Given the description of an element on the screen output the (x, y) to click on. 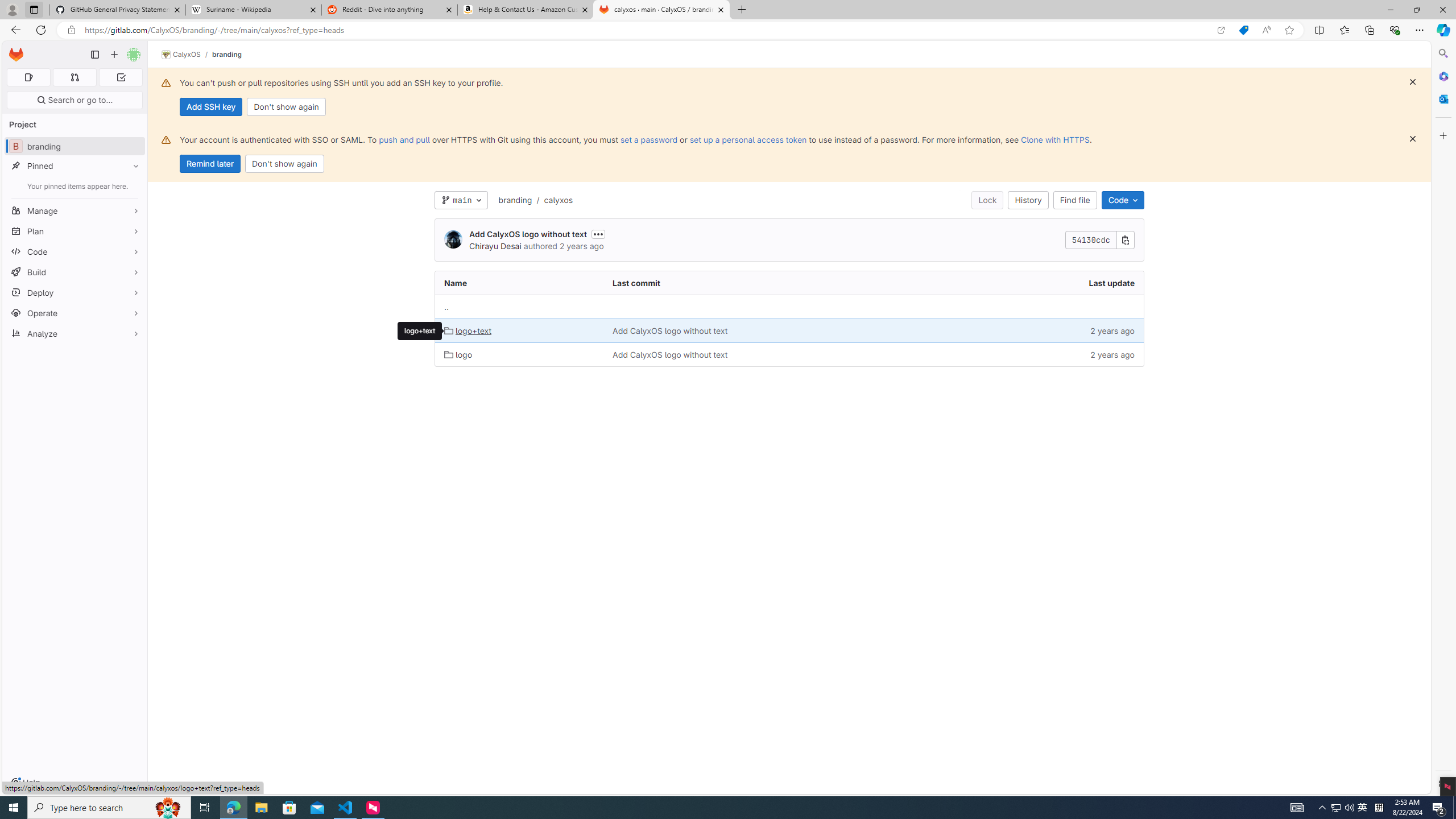
Help & Contact Us - Amazon Customer Service (525, 9)
2 years ago (1045, 354)
branding (514, 199)
Bbranding (74, 145)
CalyxOS/ (186, 54)
Class: s16 gl-alert-icon gl-alert-icon-no-title (165, 139)
